Given the description of an element on the screen output the (x, y) to click on. 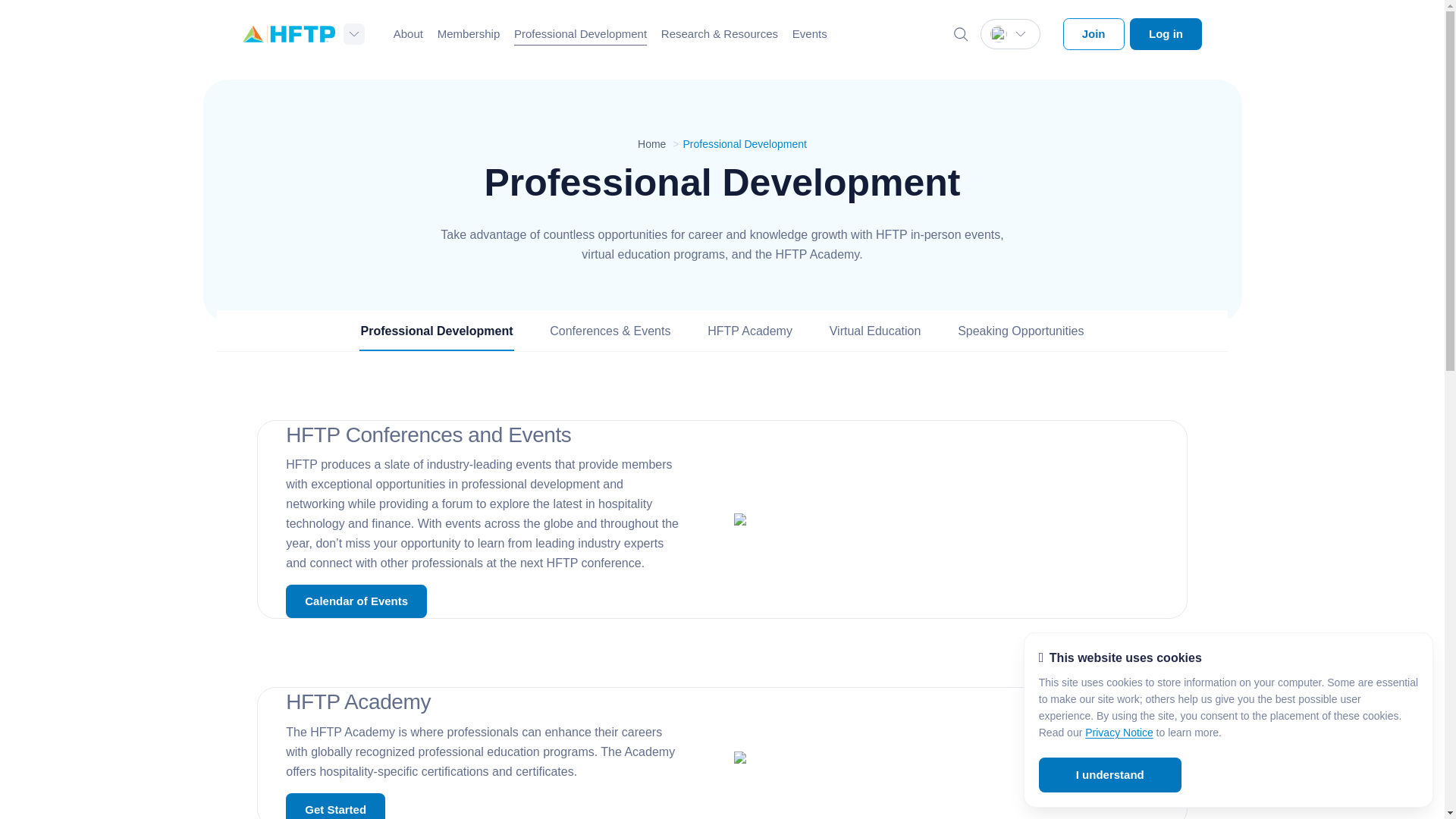
About (408, 34)
Professional Development (579, 34)
Membership (469, 34)
